Given the description of an element on the screen output the (x, y) to click on. 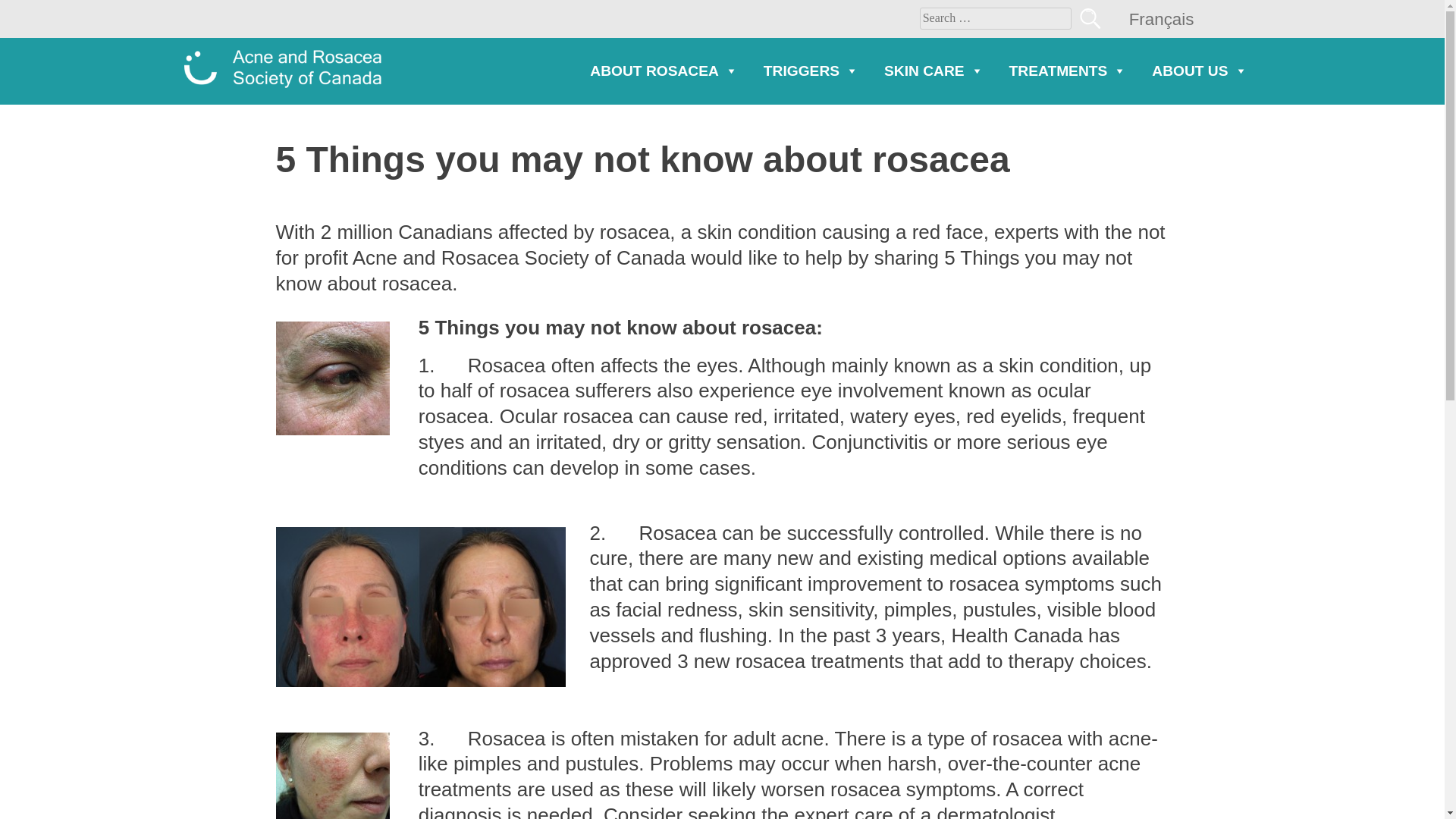
Search (1089, 17)
Search (1089, 17)
SKIN CARE (933, 71)
Search (1089, 17)
TRIGGERS (810, 71)
TREATMENTS (1067, 71)
ABOUT ROSACEA (663, 71)
ABOUT US (1199, 71)
